Given the description of an element on the screen output the (x, y) to click on. 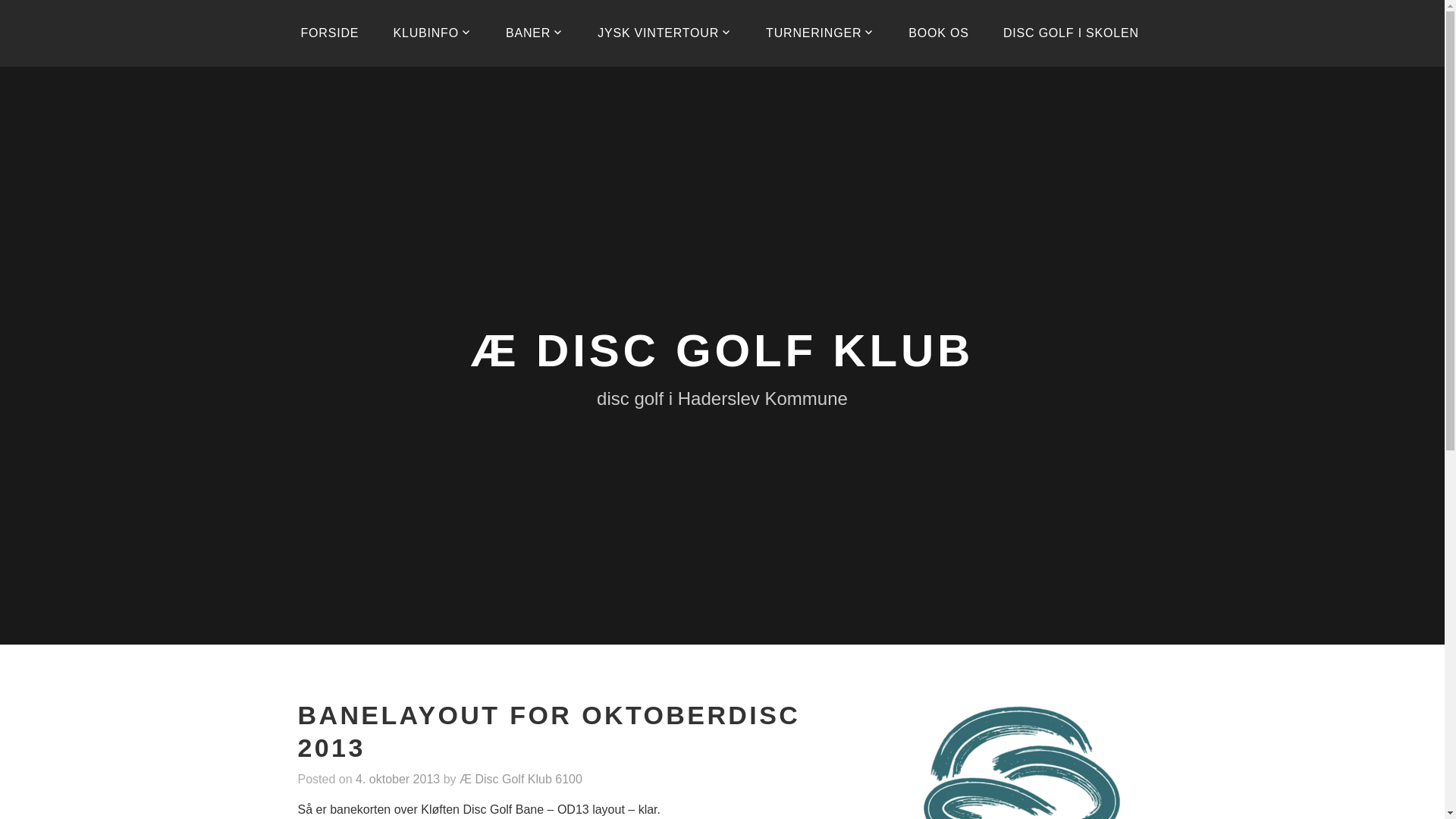
FORSIDE (329, 33)
BANER (534, 33)
KLUBINFO (431, 33)
JYSK VINTERTOUR (664, 33)
TURNERINGER (820, 33)
